Given the description of an element on the screen output the (x, y) to click on. 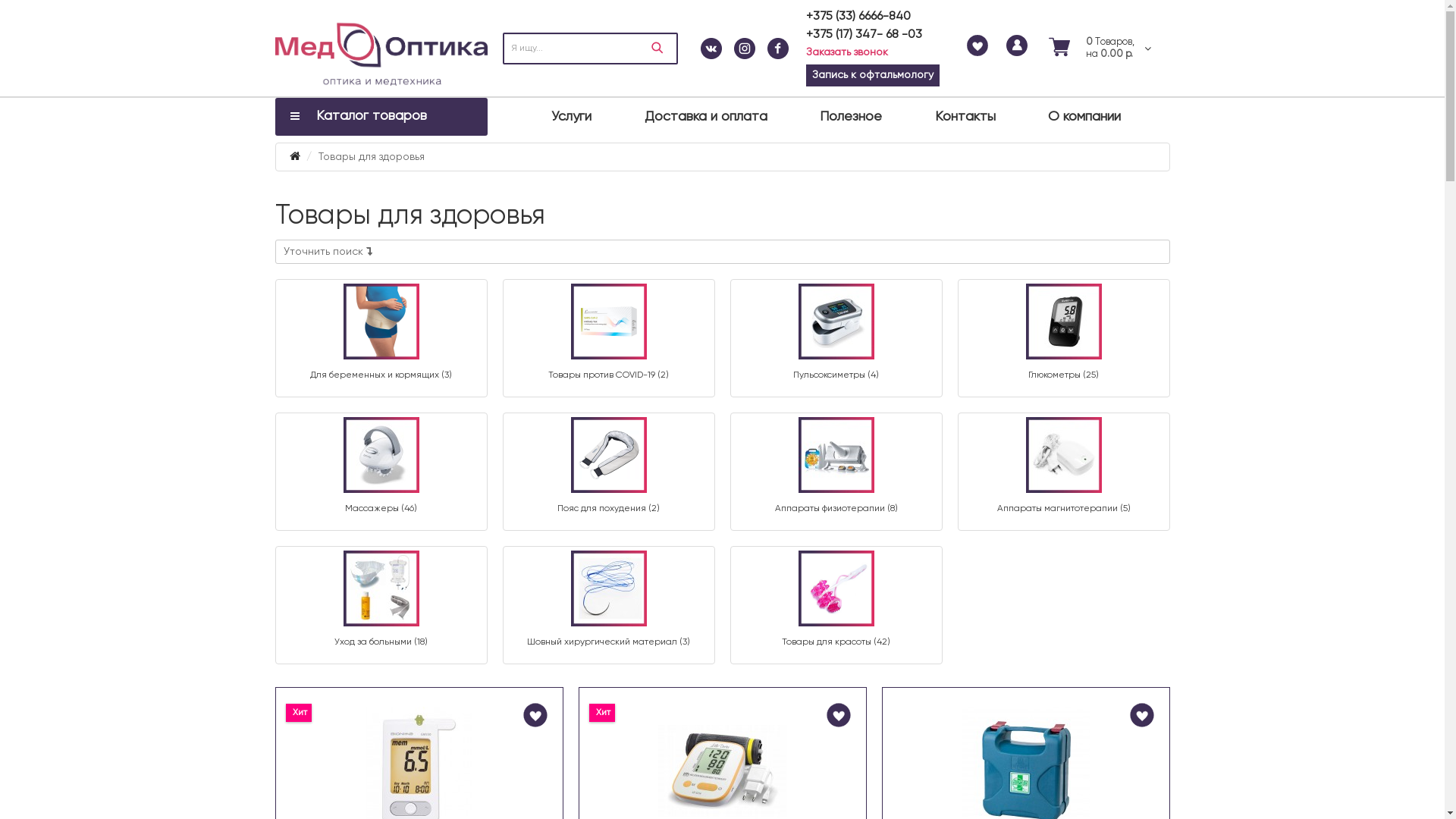
+375 (17) 347- 68 -03 Element type: text (863, 34)
+375 (33) 6666-840 Element type: text (857, 16)
